Given the description of an element on the screen output the (x, y) to click on. 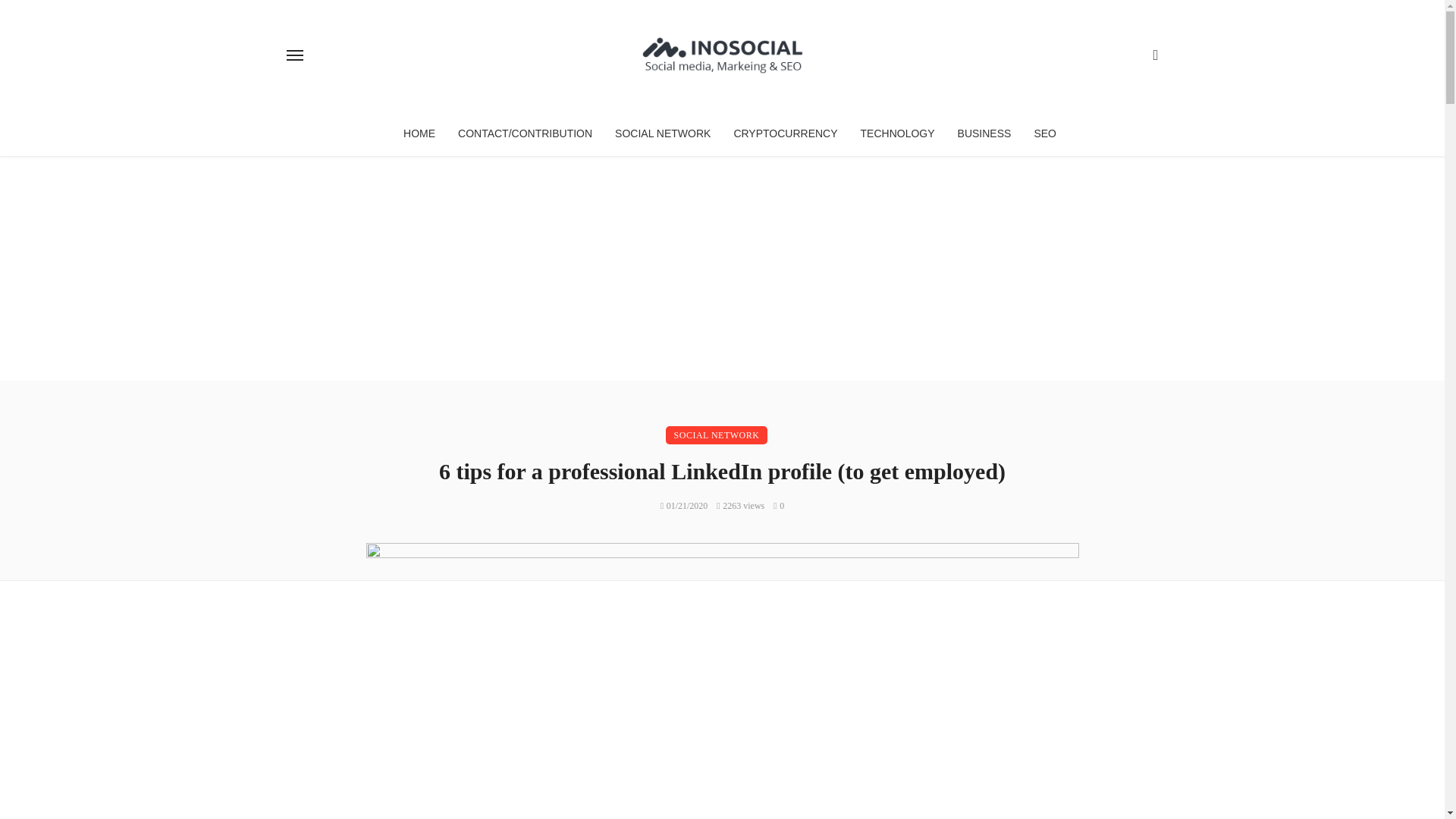
SOCIAL NETWORK (716, 434)
BUSINESS (984, 133)
0 (778, 505)
HOME (418, 133)
January 21, 2020 at 8:30 am (684, 505)
SOCIAL NETWORK (663, 133)
0 Comments (778, 505)
TECHNOLOGY (897, 133)
SEO (1044, 133)
CRYPTOCURRENCY (785, 133)
